Given the description of an element on the screen output the (x, y) to click on. 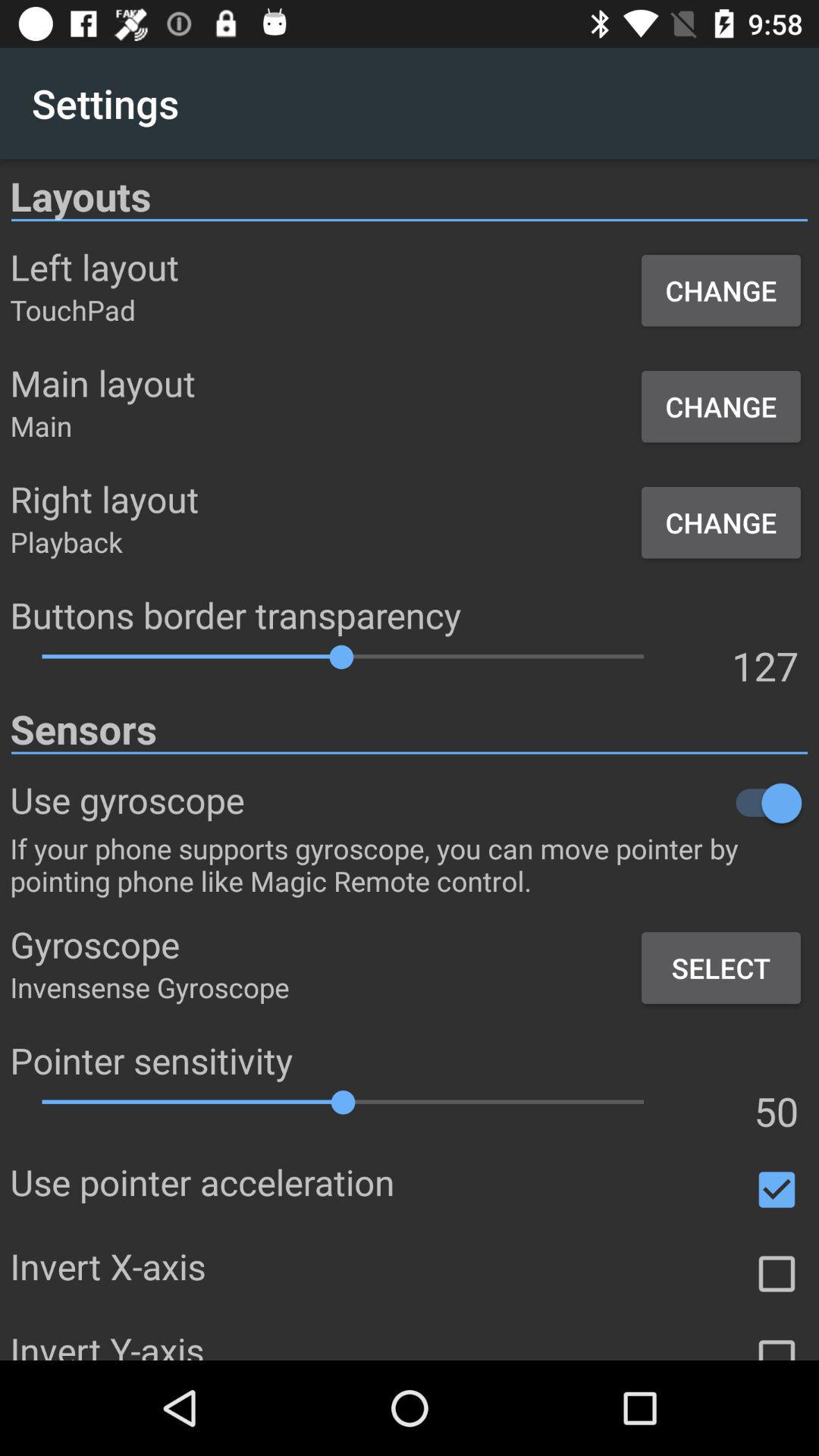
deselect option (776, 1189)
